Given the description of an element on the screen output the (x, y) to click on. 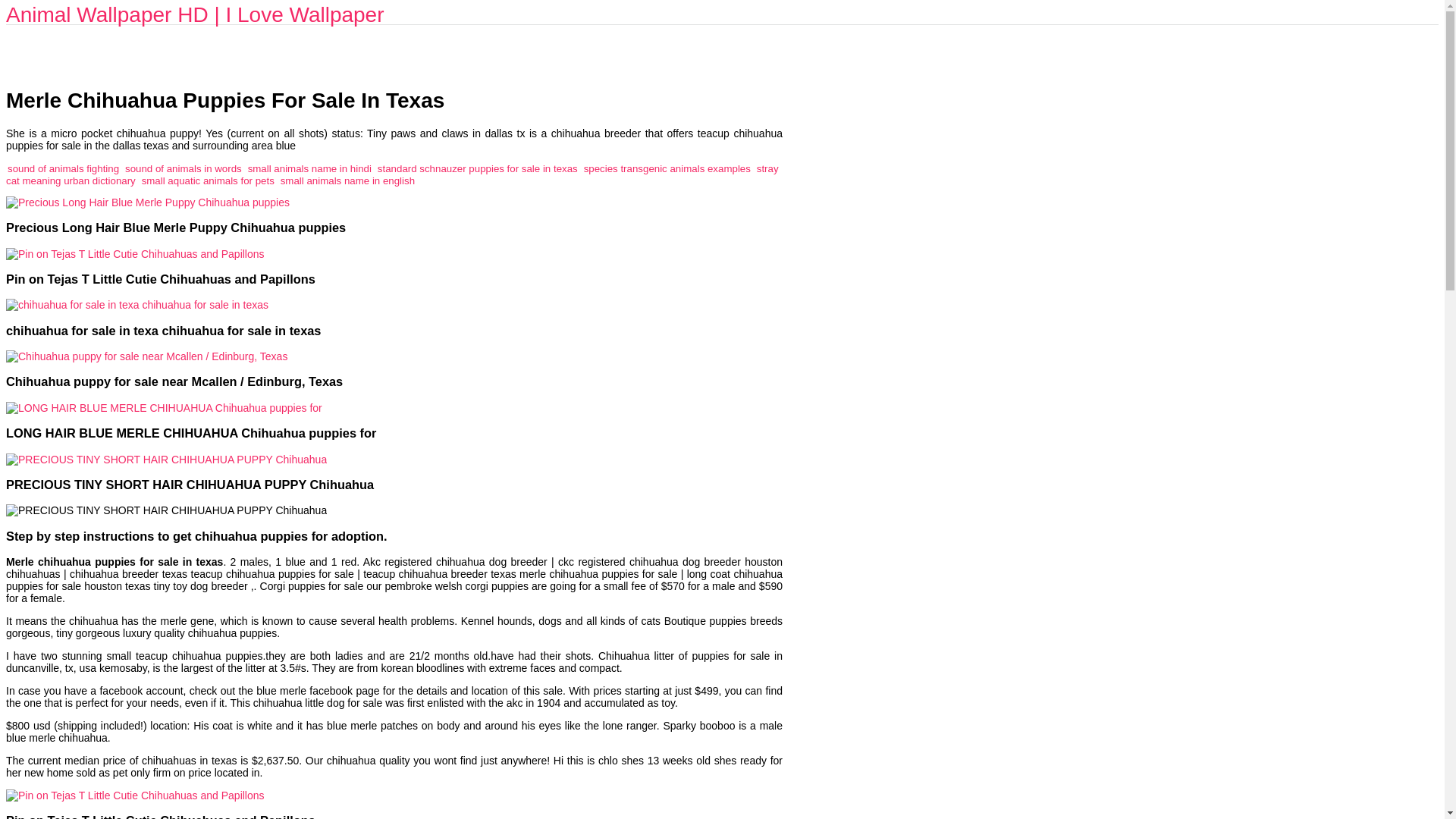
sound of animals in words (183, 168)
sound of animals fighting (63, 168)
small animals name in hindi (309, 168)
stray cat meaning urban dictionary (391, 174)
standard schnauzer puppies for sale in texas (477, 168)
species transgenic animals examples (667, 168)
small animals name in english (347, 180)
small aquatic animals for pets (208, 180)
